Given the description of an element on the screen output the (x, y) to click on. 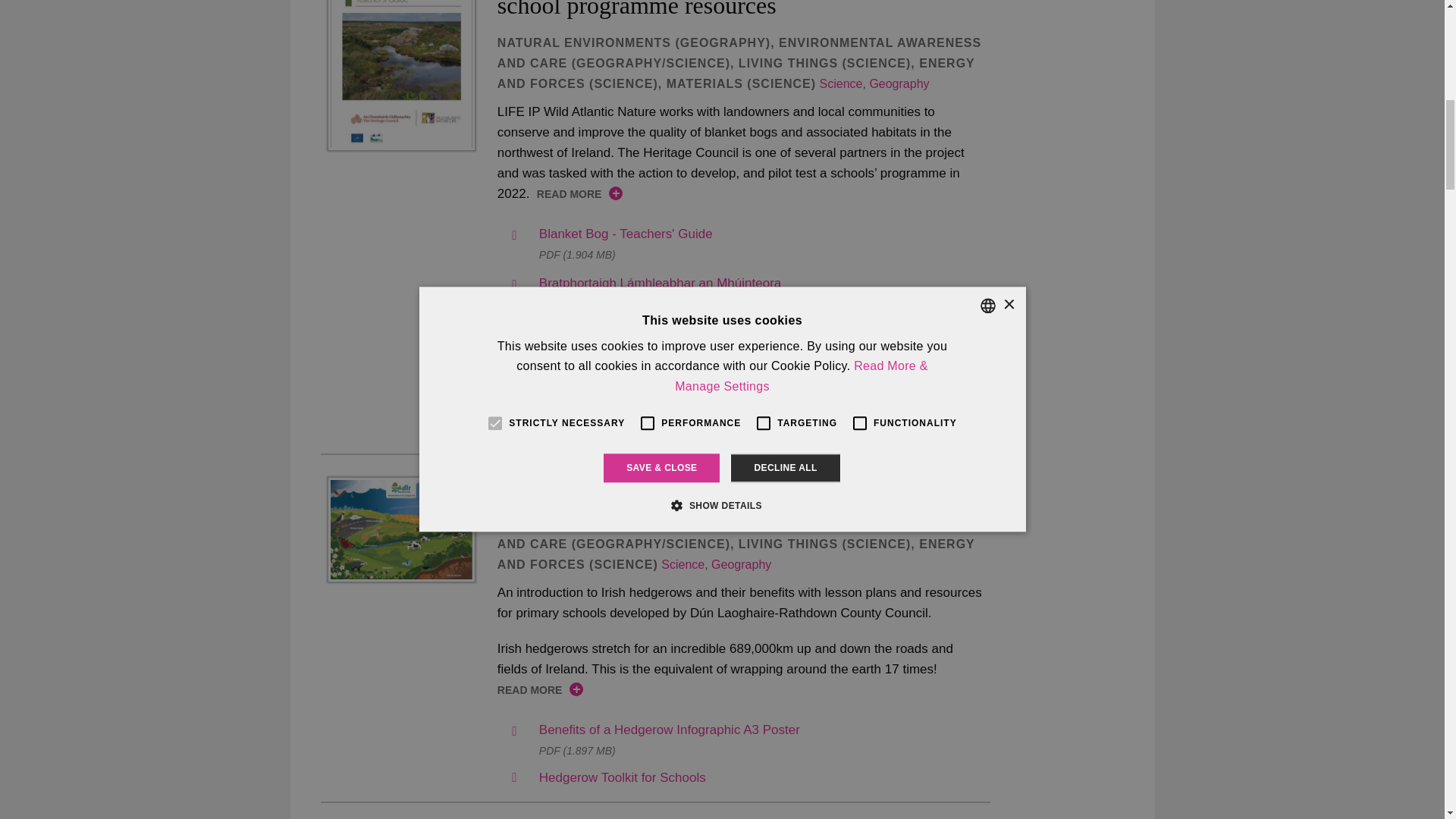
Hedgerow Toolkit for Schools (400, 529)
